Given the description of an element on the screen output the (x, y) to click on. 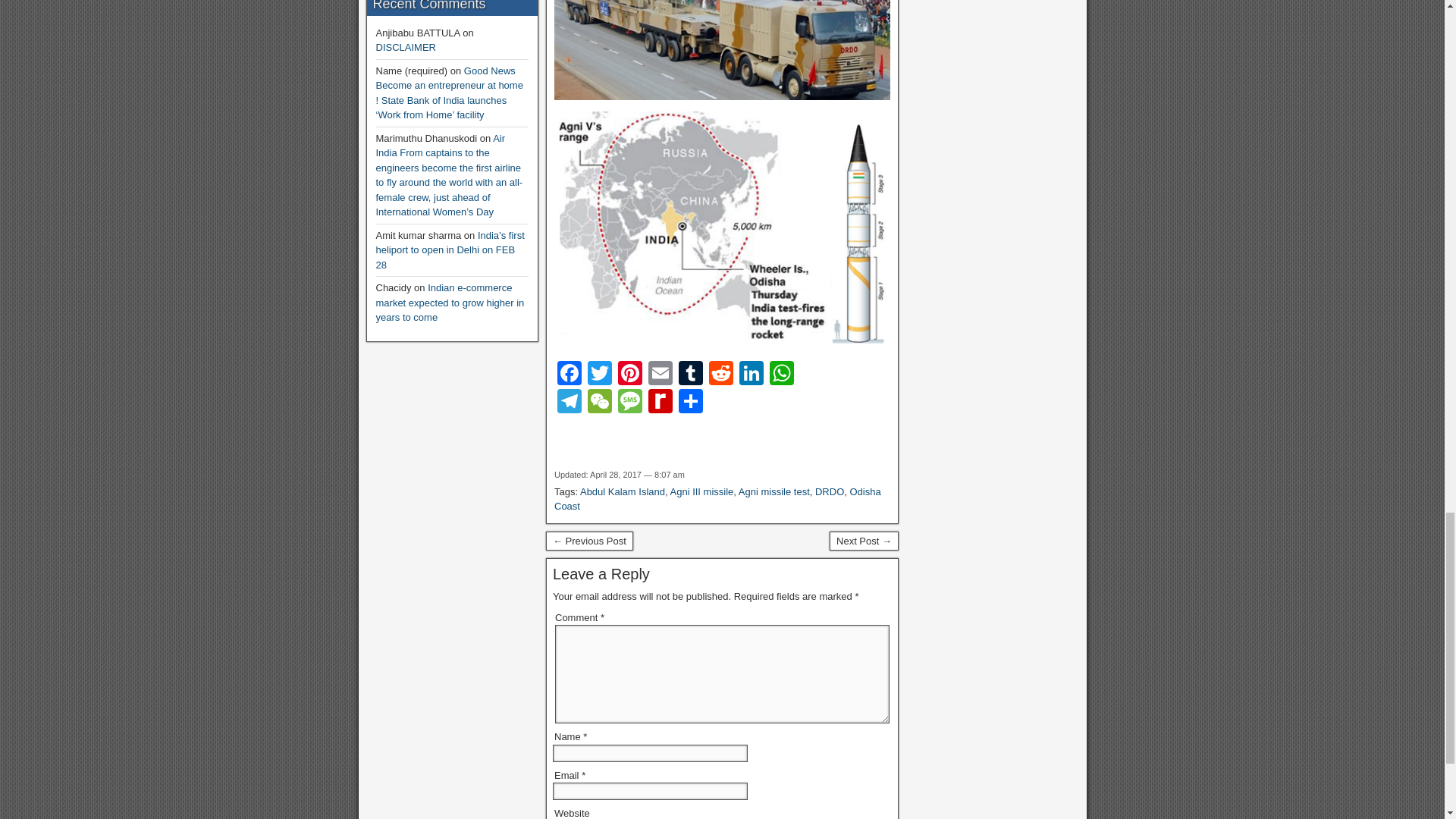
Agni missile test (773, 491)
Twitter (599, 375)
Email (660, 375)
LinkedIn (751, 375)
Pinterest (629, 375)
Facebook (569, 375)
Rediff MyPage (660, 402)
Telegram (569, 402)
Pinterest (629, 375)
